Given the description of an element on the screen output the (x, y) to click on. 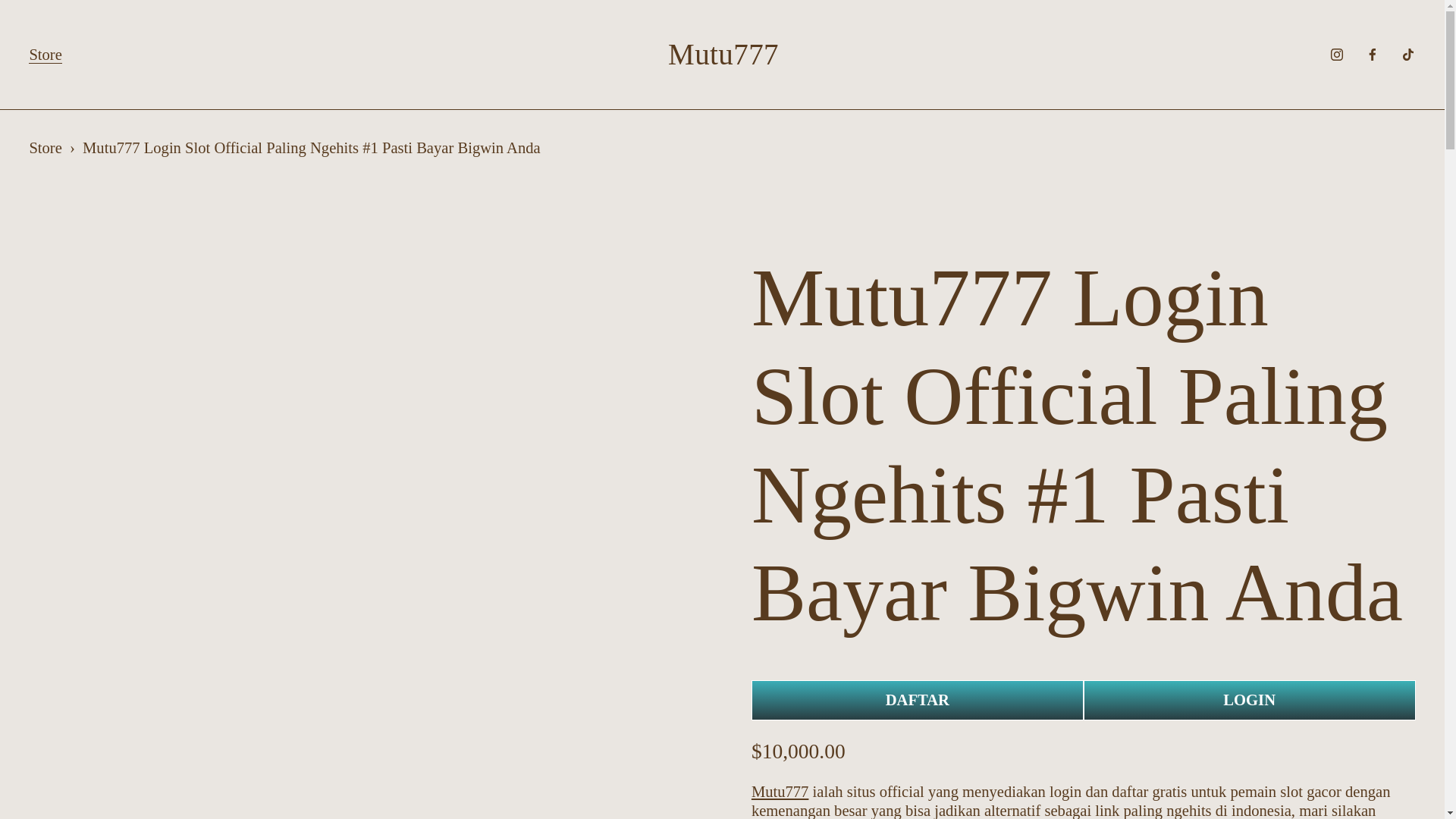
DAFTAR (917, 700)
LOGIN (1249, 700)
Mutu777 (780, 791)
Store (45, 147)
Mutu777 (723, 53)
Store (45, 55)
